Given the description of an element on the screen output the (x, y) to click on. 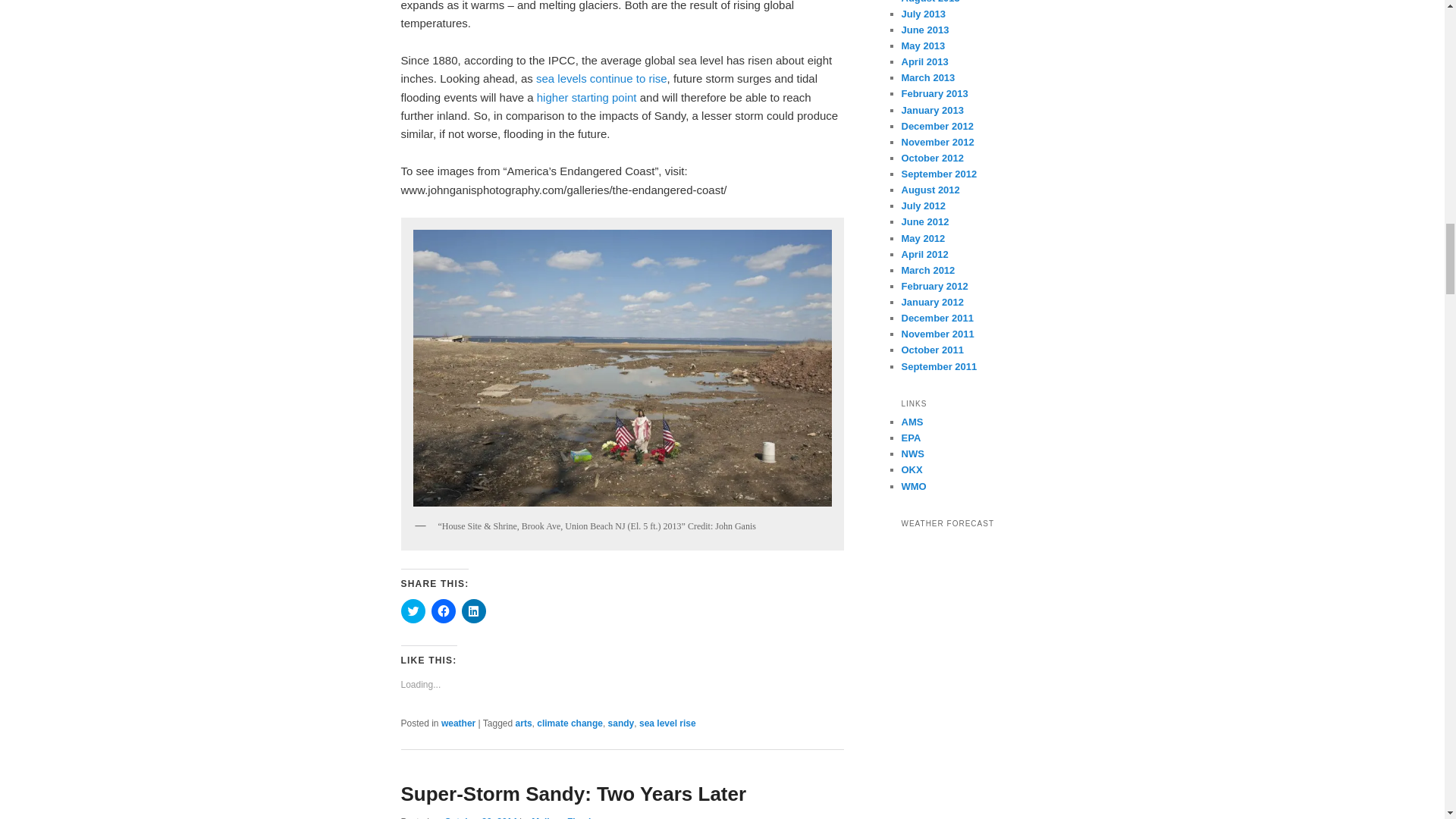
Click to share on Facebook (442, 610)
Click to share on LinkedIn (472, 610)
Click to share on Twitter (412, 610)
